Given the description of an element on the screen output the (x, y) to click on. 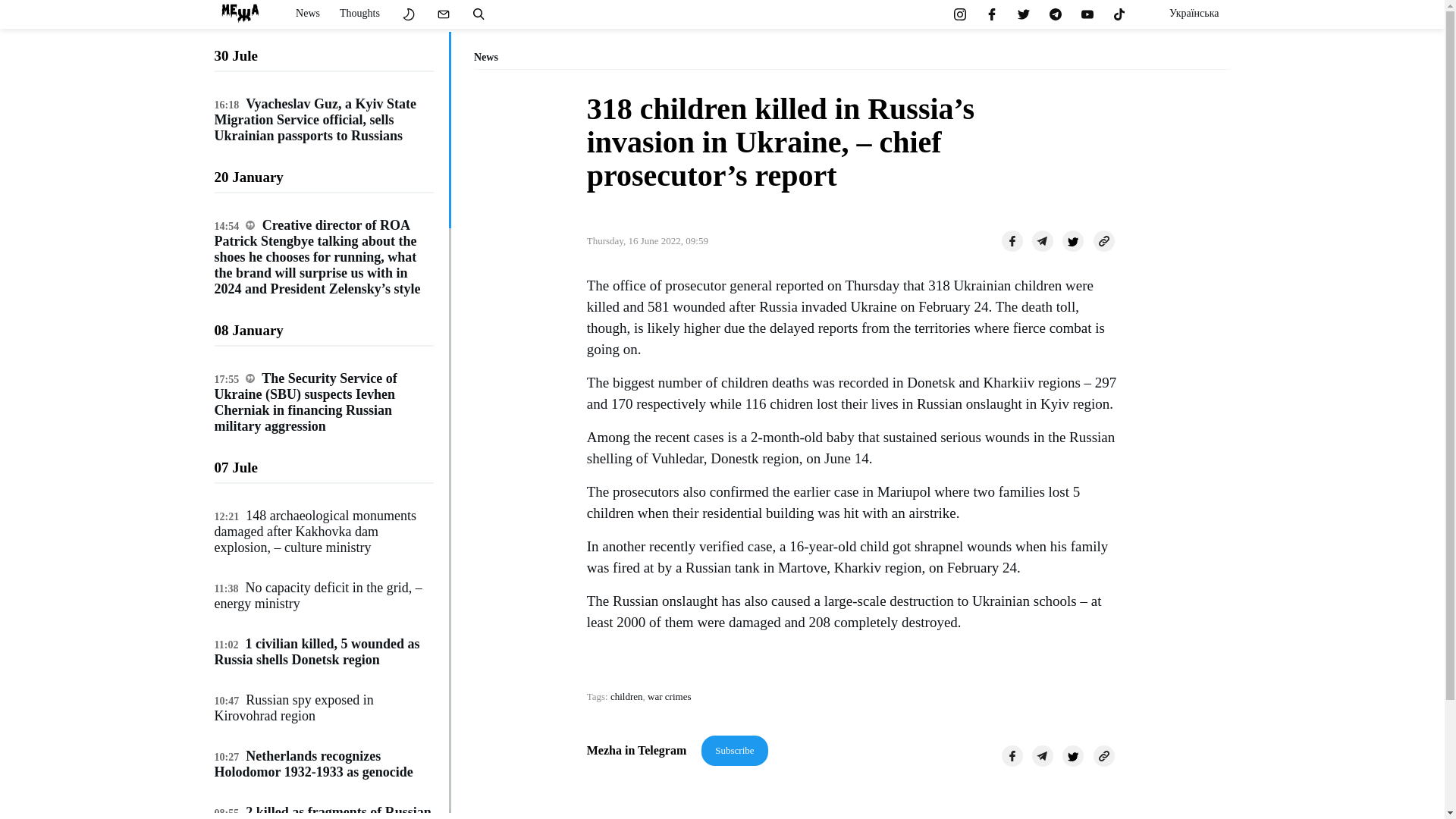
Netherlands recognizes Holodomor 1932-1933 as genocide (313, 763)
News (307, 14)
1 civilian killed, 5 wounded as Russia shells Donetsk region (316, 651)
News (307, 14)
Telegram (1042, 240)
Telegram (1042, 755)
Facebook (1012, 755)
Copy link (1104, 240)
Twitter (1072, 755)
Thoughts (359, 14)
